Given the description of an element on the screen output the (x, y) to click on. 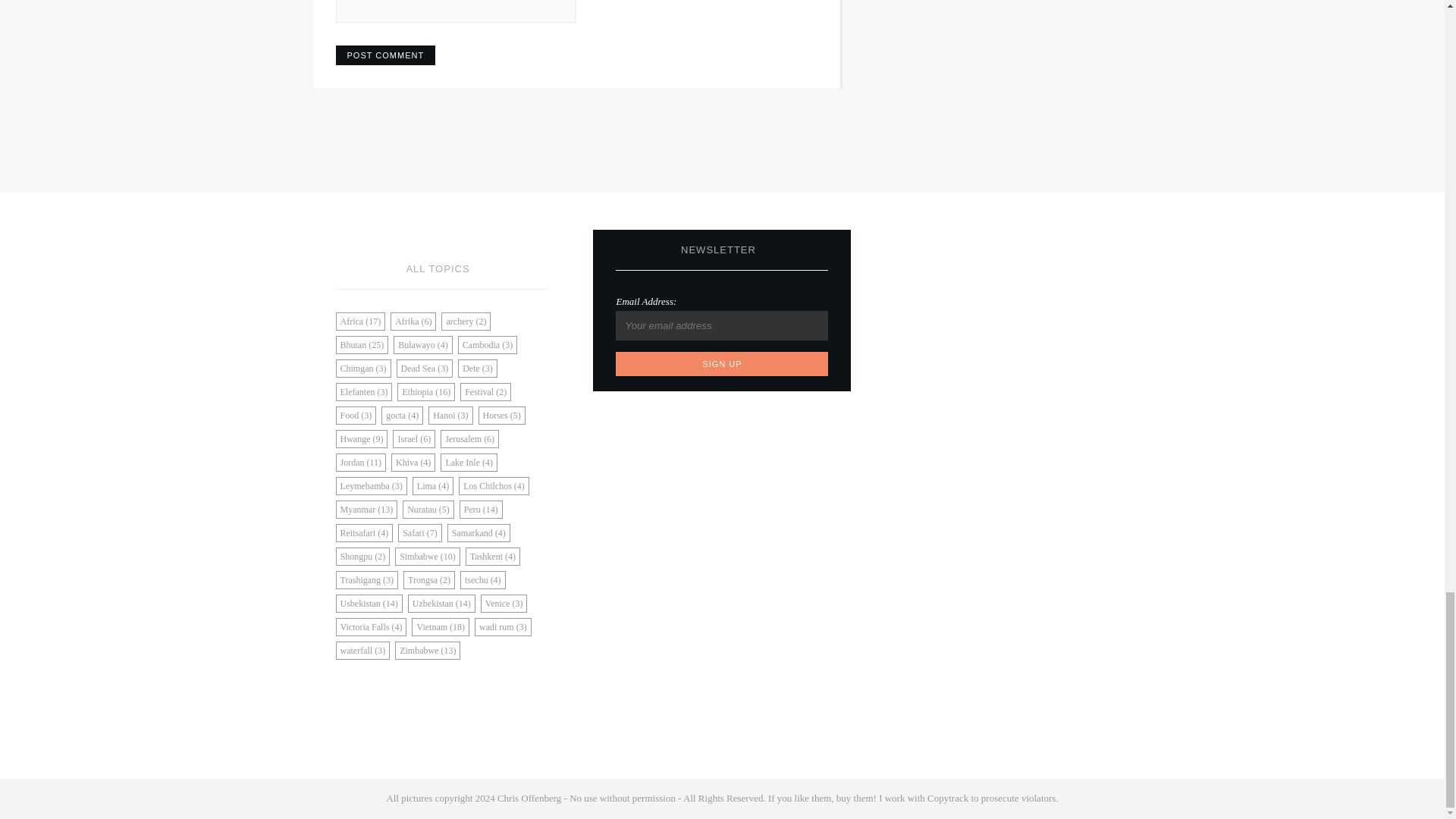
Post Comment (384, 55)
Sign up (721, 363)
Post Comment (384, 55)
